Given the description of an element on the screen output the (x, y) to click on. 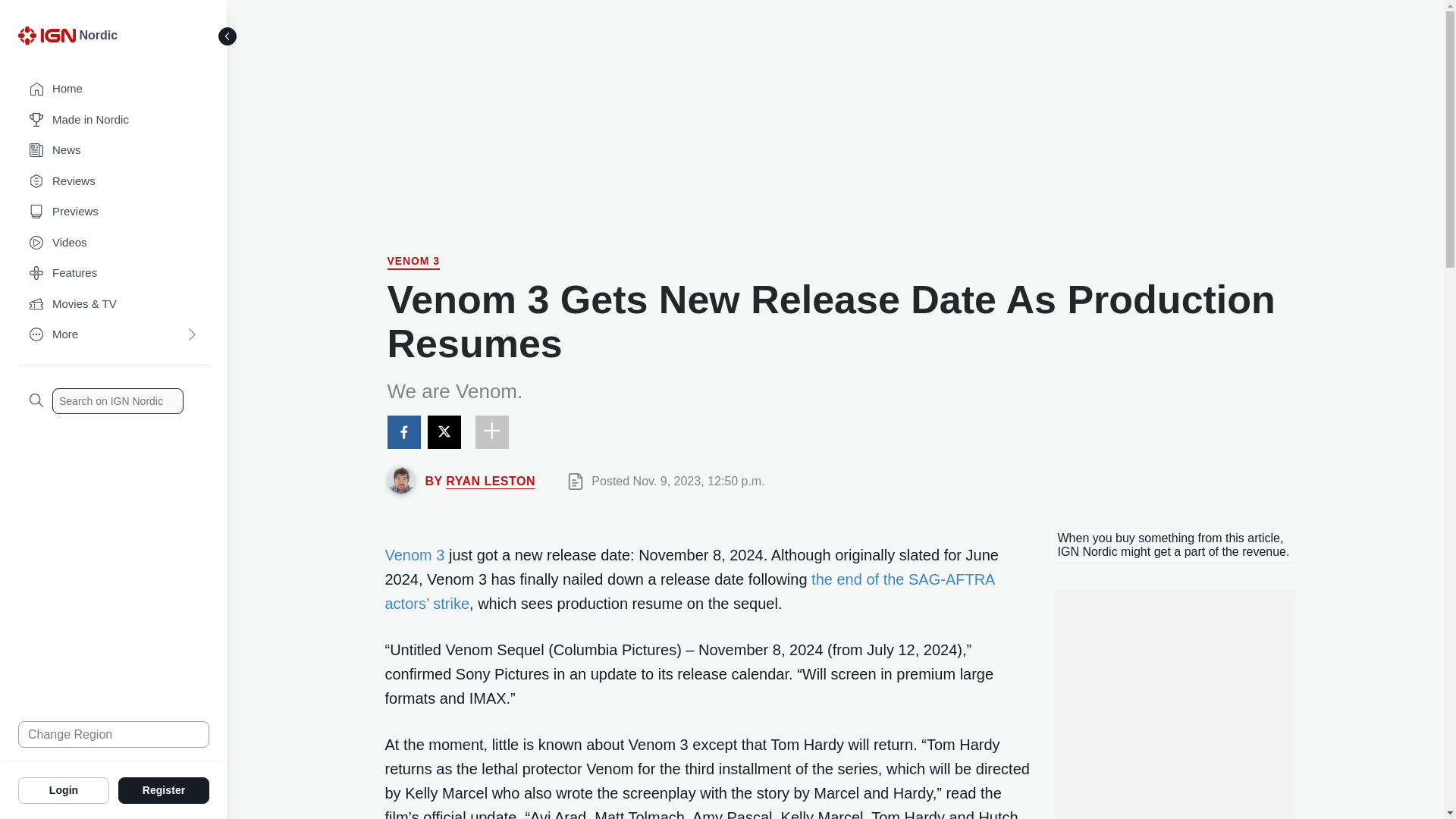
Venom 3 (415, 555)
News (113, 150)
Features (113, 273)
Toggle Sidebar (226, 36)
RYAN LESTON (490, 481)
Login (63, 789)
Previews (113, 211)
Register (163, 789)
Venom 3 (413, 262)
More (113, 334)
